Given the description of an element on the screen output the (x, y) to click on. 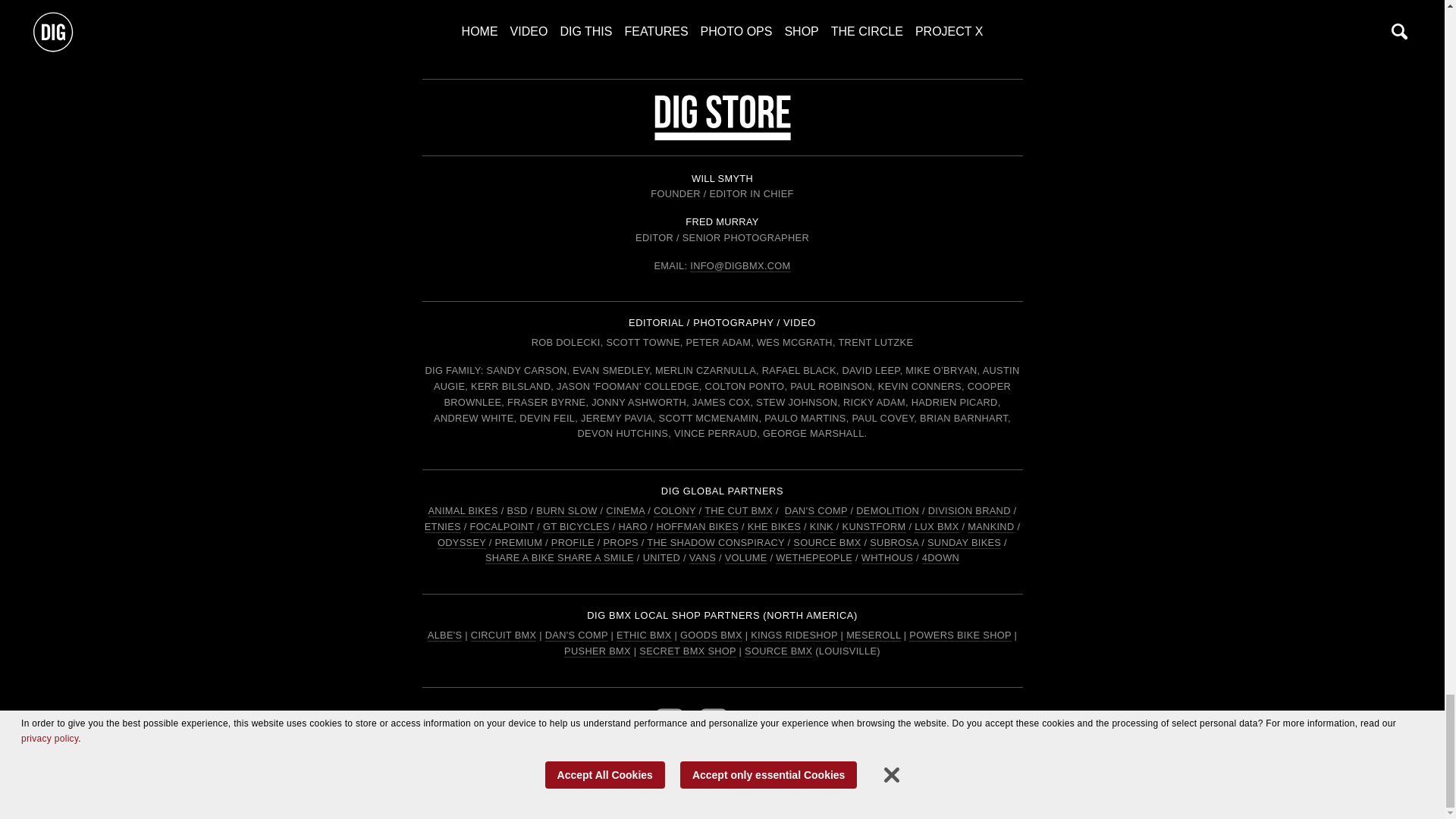
To the top (722, 9)
